Given the description of an element on the screen output the (x, y) to click on. 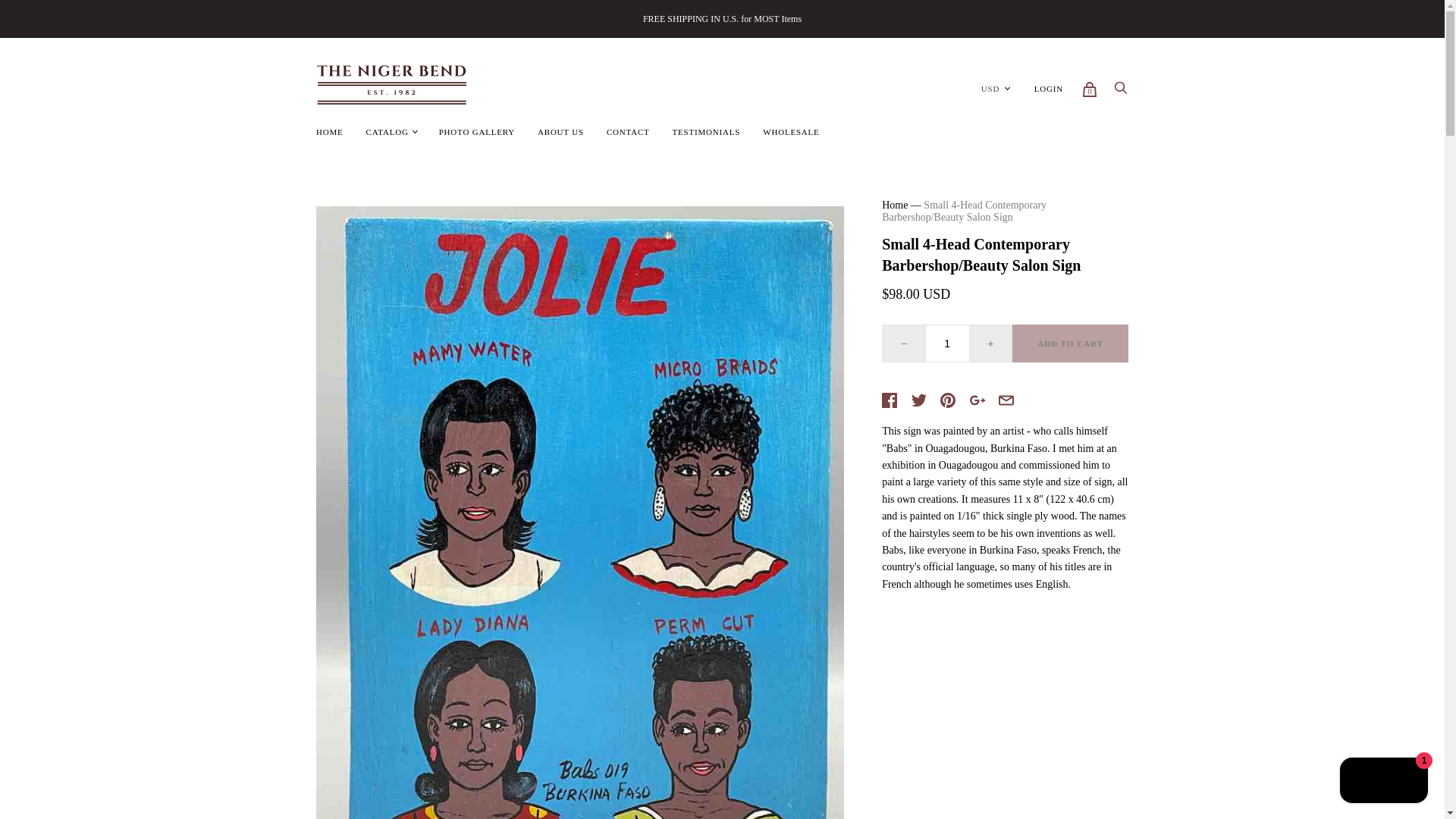
1 (947, 343)
CATALOG (387, 132)
Home (894, 204)
Shopify online store chat (1383, 781)
HOME (329, 132)
